Given the description of an element on the screen output the (x, y) to click on. 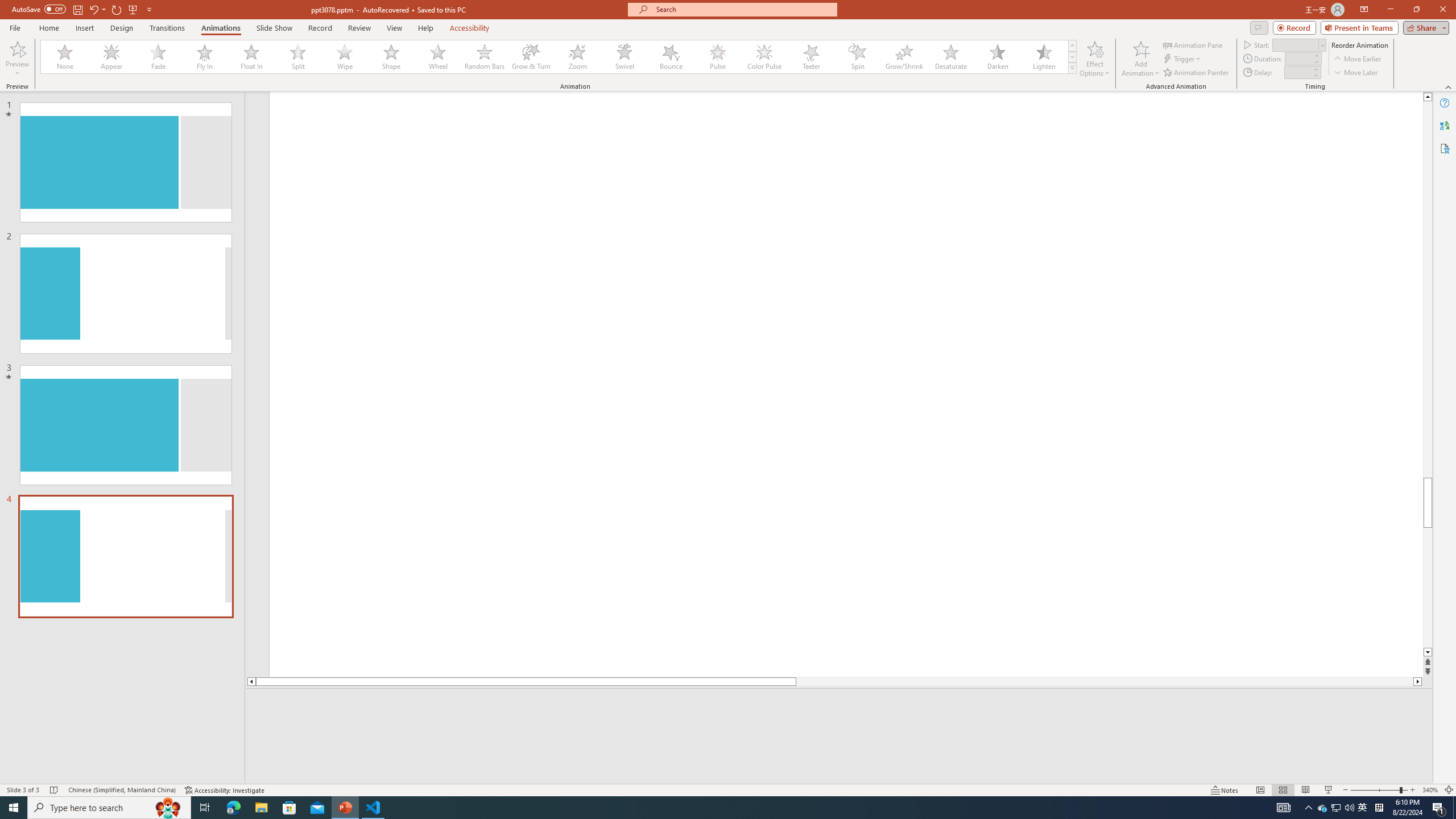
Bounce (670, 56)
Desaturate (950, 56)
Animation Pane (1193, 44)
Zoom 340% (1430, 790)
Swivel (624, 56)
